Given the description of an element on the screen output the (x, y) to click on. 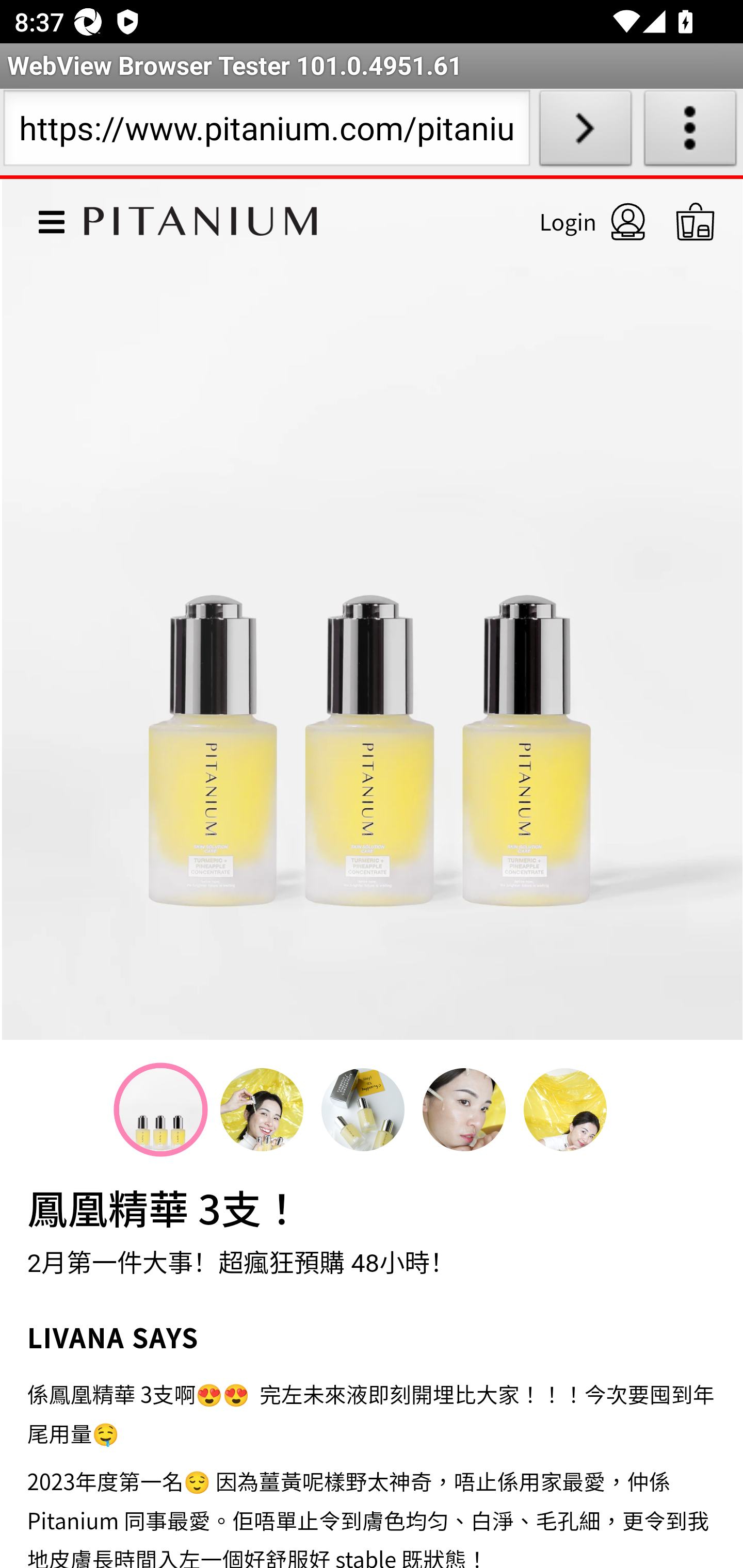
Load URL (585, 132)
About WebView (690, 132)
Login Account (575, 220)
shopping bag (695, 220)
Brand Logo (201, 216)
